Given the description of an element on the screen output the (x, y) to click on. 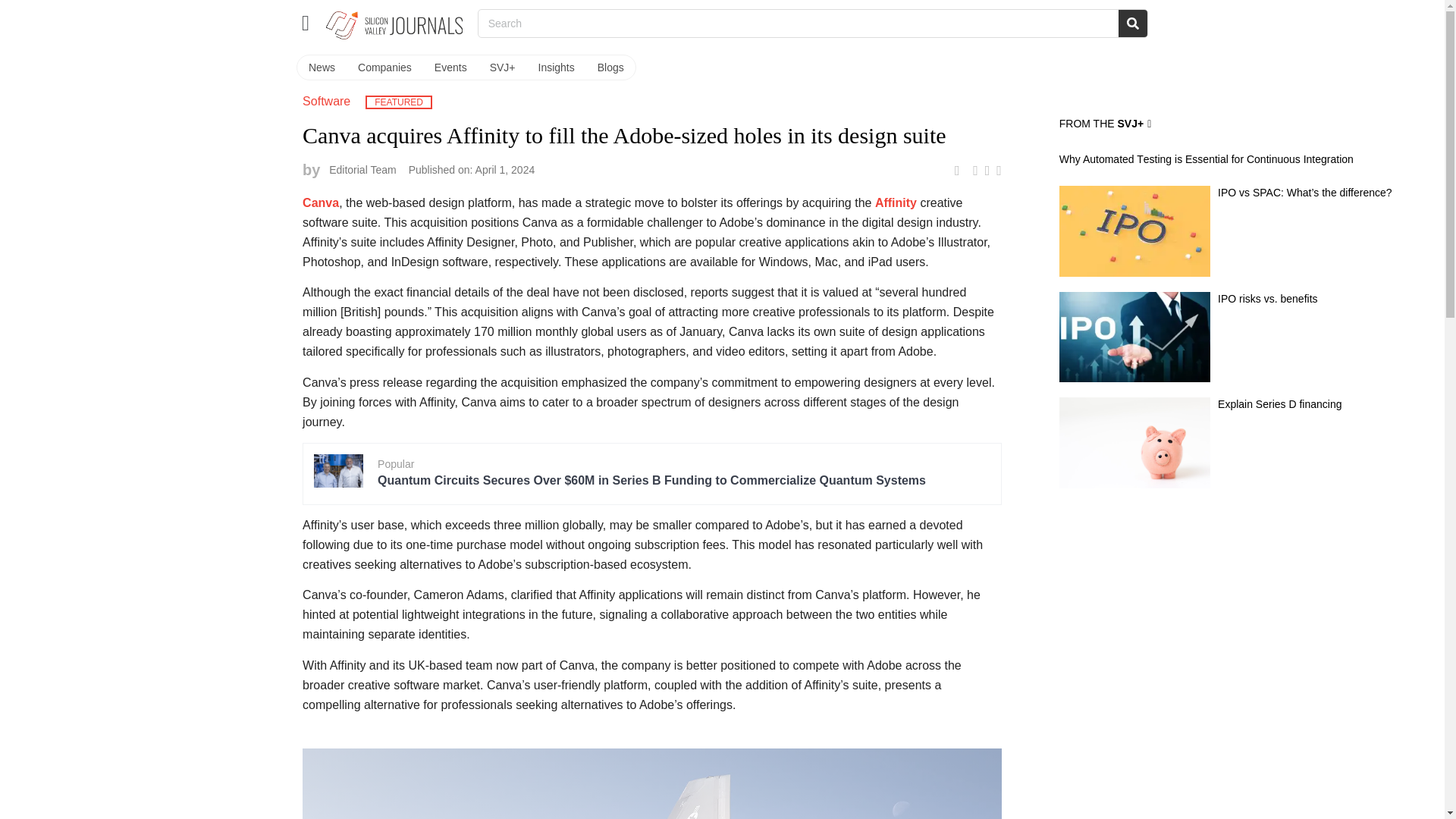
Search (1132, 22)
Events (451, 67)
Companies (384, 67)
Search (798, 22)
News (321, 67)
Blogs (610, 67)
Insights (556, 67)
